Given the description of an element on the screen output the (x, y) to click on. 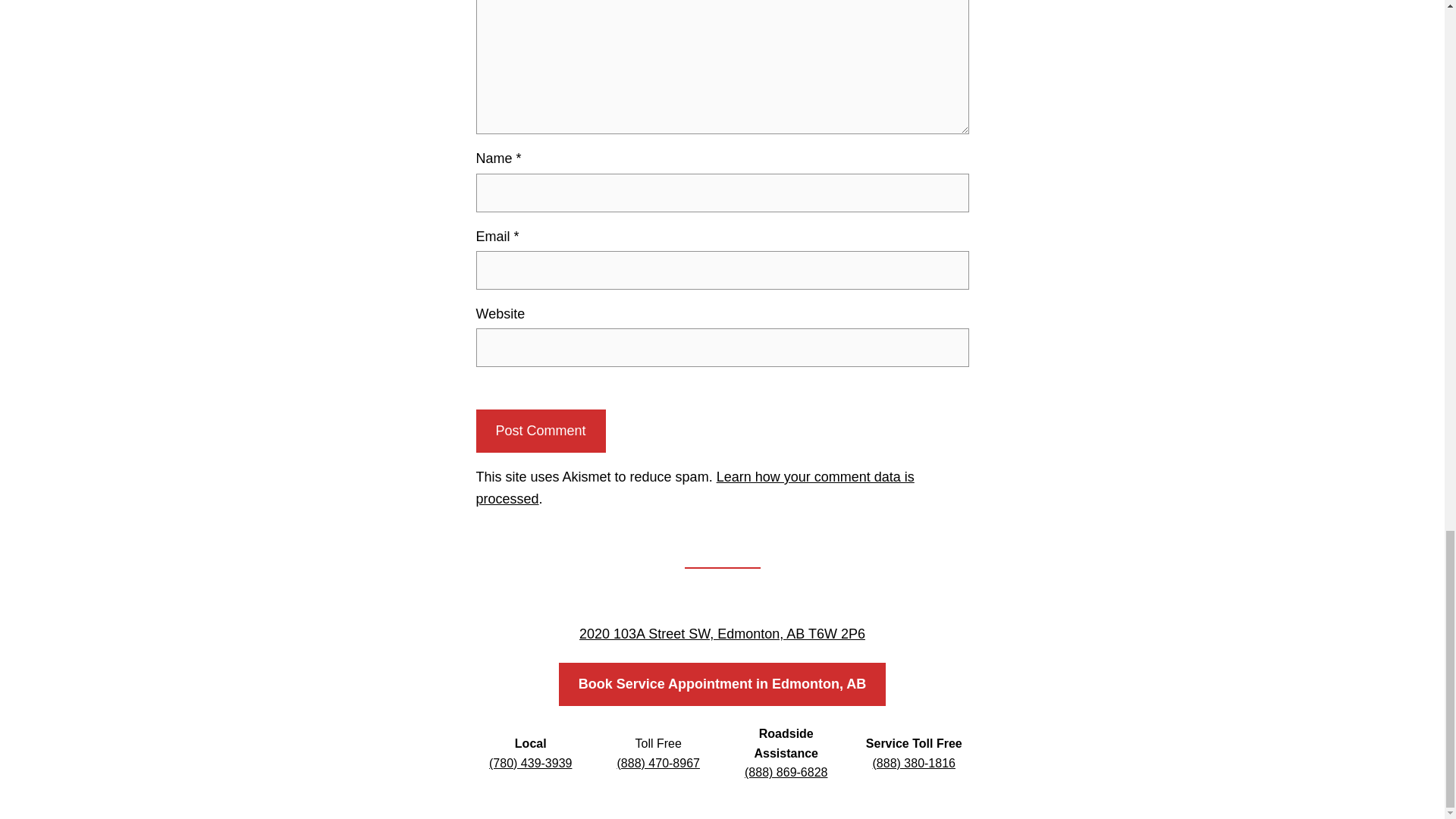
Post Comment (540, 430)
Learn how your comment data is processed (695, 487)
Please wait until Google reCAPTCHA is loaded. (540, 430)
Post Comment (540, 430)
2020 103A Street SW, Edmonton, AB T6W 2P6 (721, 633)
Book Service Appointment in Edmonton, AB (722, 683)
